Given the description of an element on the screen output the (x, y) to click on. 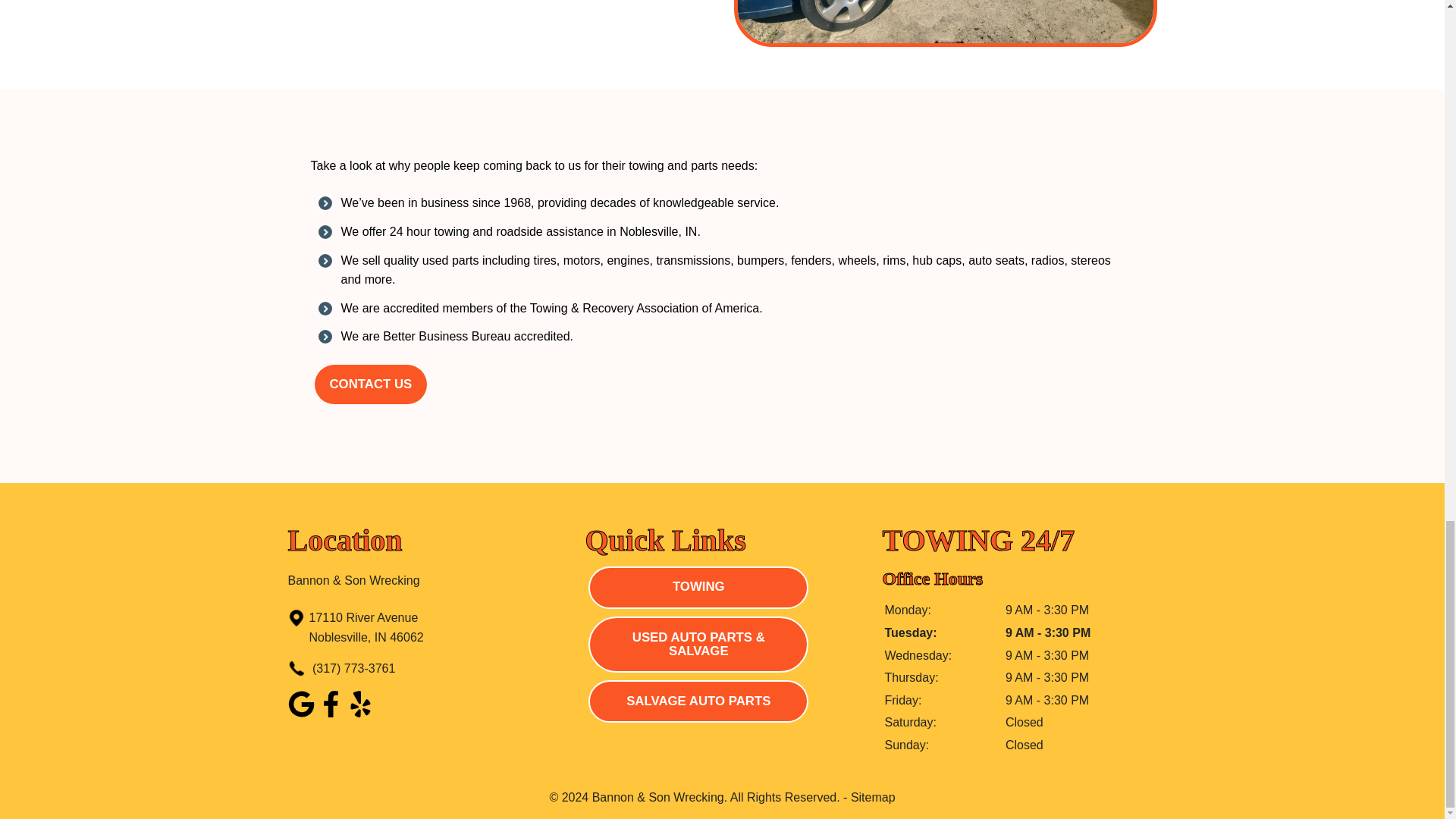
SALVAGE AUTO PARTS (698, 701)
Call Today (435, 627)
Google Listing (435, 668)
View Yelp Listing (435, 627)
Call Us (360, 712)
View Google Listing (370, 384)
View Facebook Listing (301, 712)
CONTACT US (330, 712)
Terms and Conditions (370, 384)
